Given the description of an element on the screen output the (x, y) to click on. 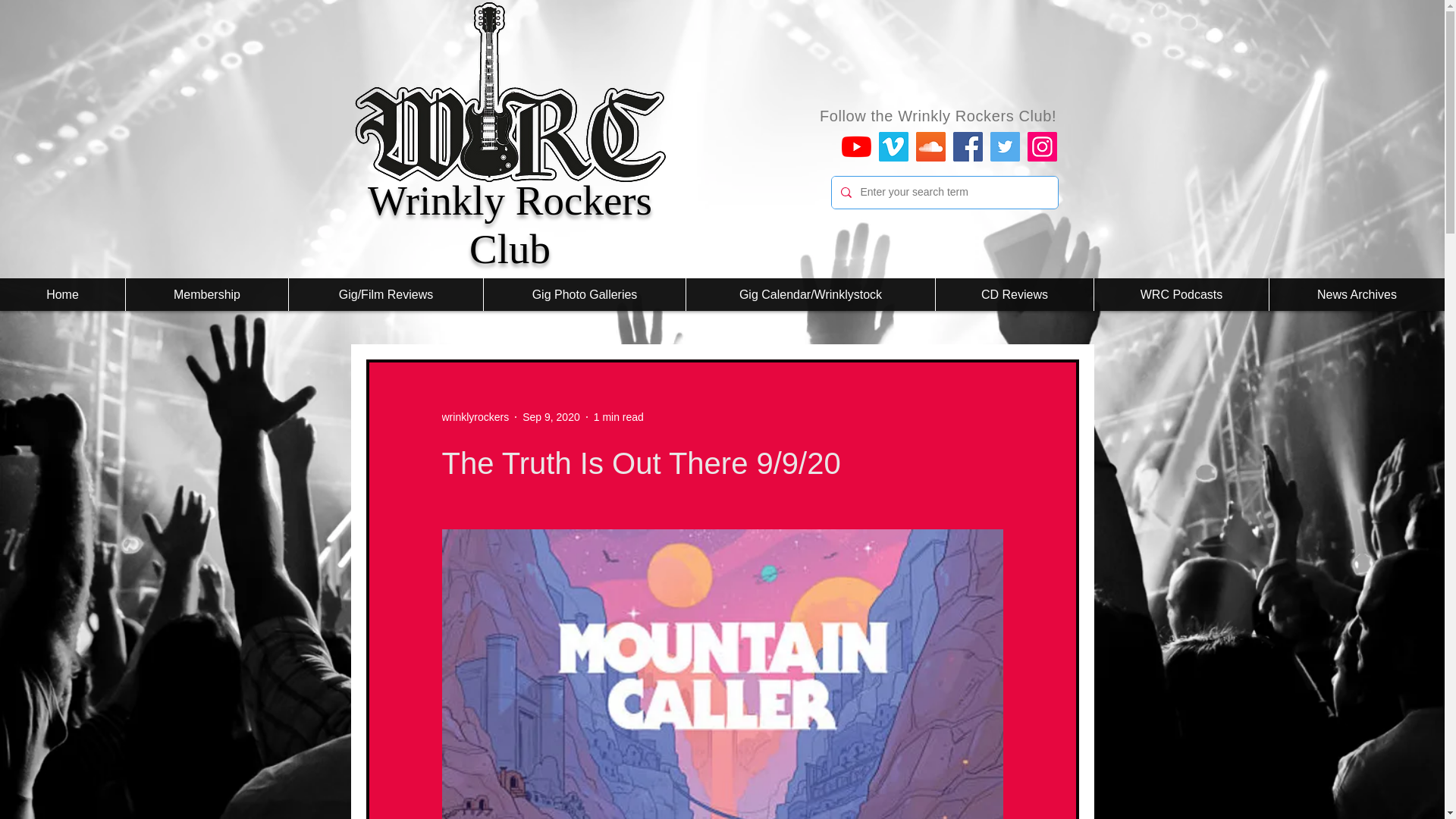
Home (62, 294)
wrinklyrockers (474, 417)
WRC Podcasts (1180, 294)
1 min read (618, 417)
CD Reviews (1013, 294)
Wrinkly Rockers Club (510, 223)
Membership (206, 294)
Gig Photo Galleries (584, 294)
wrinklyrockers (474, 417)
Sep 9, 2020 (550, 417)
